Given the description of an element on the screen output the (x, y) to click on. 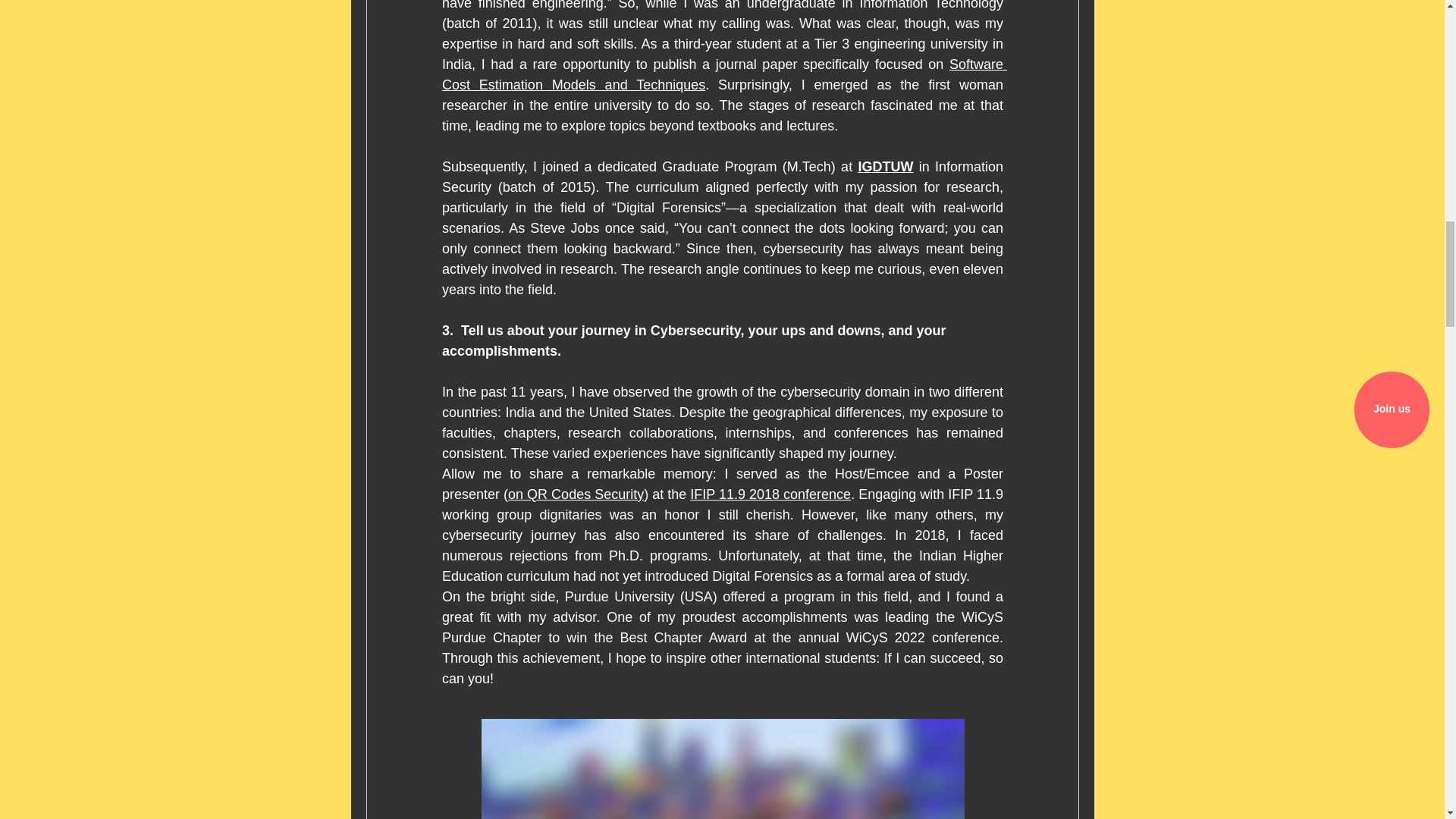
M.Tech (807, 166)
IFIP 11.9 2018 conference (770, 494)
on QR Codes Security (575, 494)
Software Cost Estimation Models and Techniques (723, 74)
IGDTUW (884, 166)
